Given the description of an element on the screen output the (x, y) to click on. 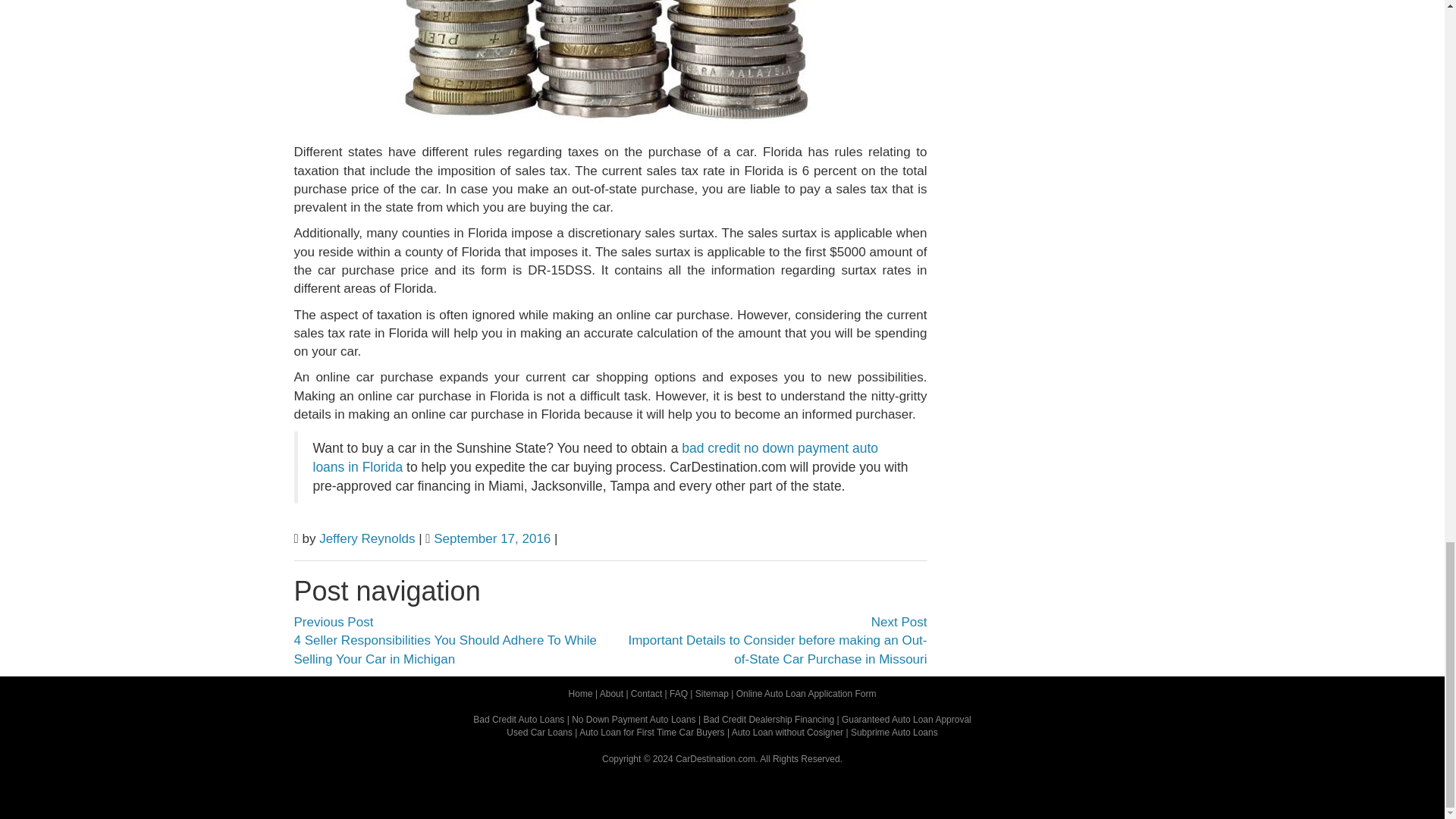
Auto Loan for First Time Car Buyers (651, 732)
Subprime Auto Loans (893, 732)
Sitemap (712, 693)
September 17, 2016 (491, 538)
Bad Credit Auto Loans (518, 719)
Home (580, 693)
Used Car Loans (539, 732)
Online Auto Loan Application Form (806, 693)
